Given the description of an element on the screen output the (x, y) to click on. 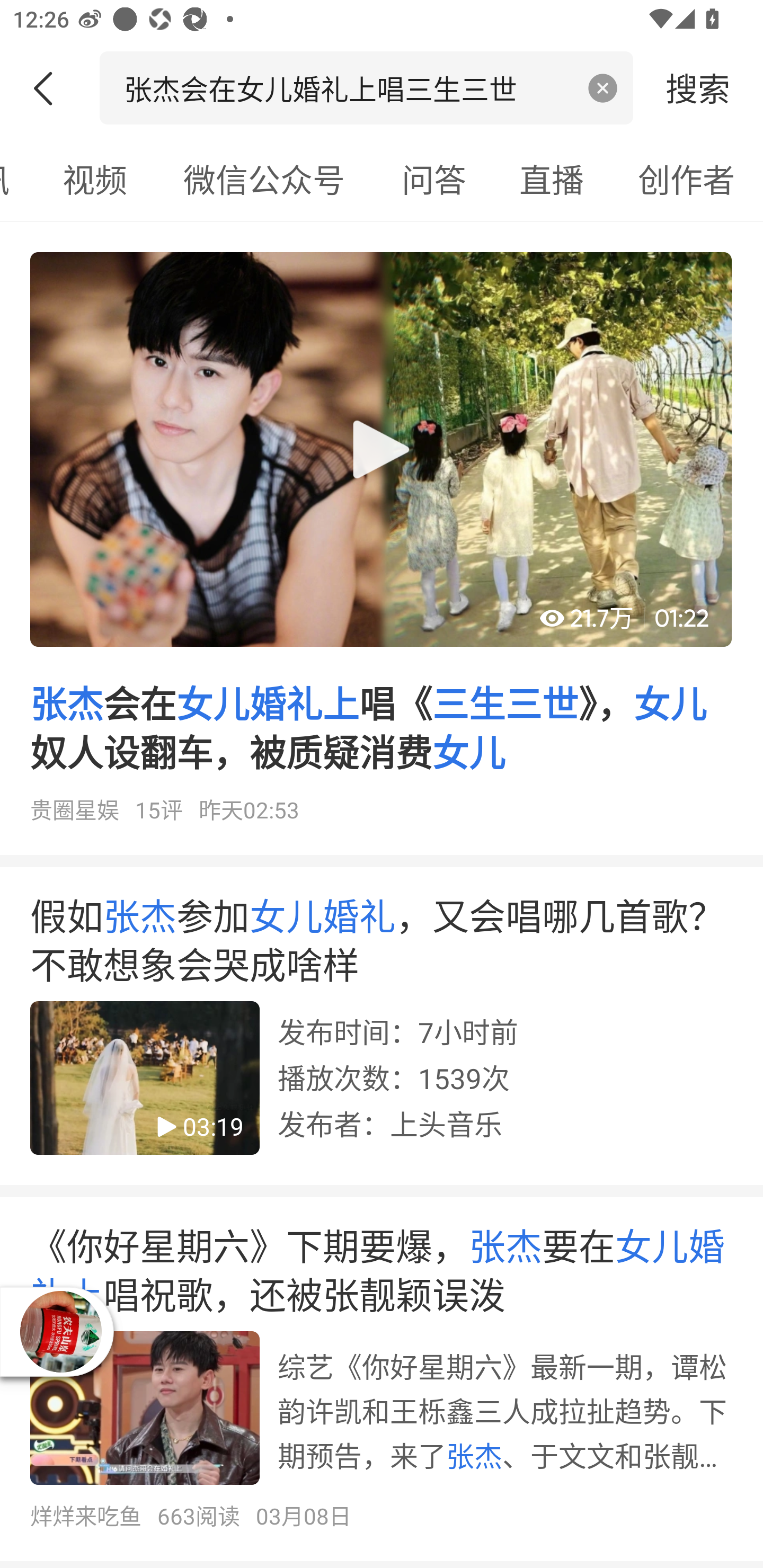
返回 (49, 87)
搜索 (698, 87)
张杰会在女儿婚礼上唱三生三世 (347, 87)
清空 (602, 88)
视频，可选中 (94, 179)
微信公众号，可选中 (264, 179)
问答，可选中 (433, 179)
直播，可选中 (551, 179)
创作者，可选中 (686, 179)
张杰会在女儿婚礼上唱《三生三世》，女儿奴人设翻车，被质疑消费女儿 (381, 544)
假如张杰参加女儿婚礼，又会唱哪几首歌？不敢想象会哭成啥样 (381, 1032)
播放器 (61, 1331)
